Given the description of an element on the screen output the (x, y) to click on. 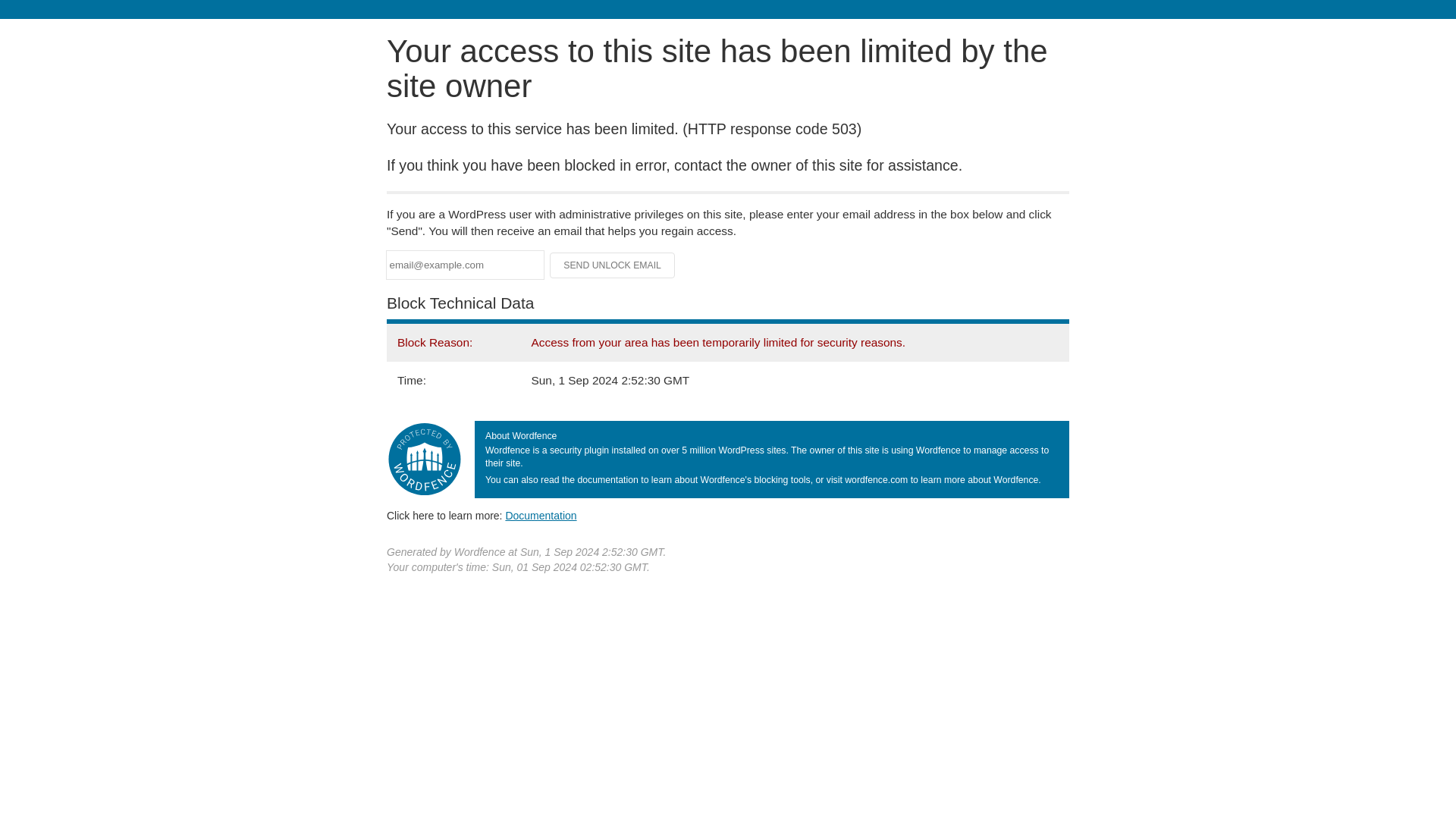
Send Unlock Email (612, 265)
Documentation (540, 515)
Send Unlock Email (612, 265)
